Given the description of an element on the screen output the (x, y) to click on. 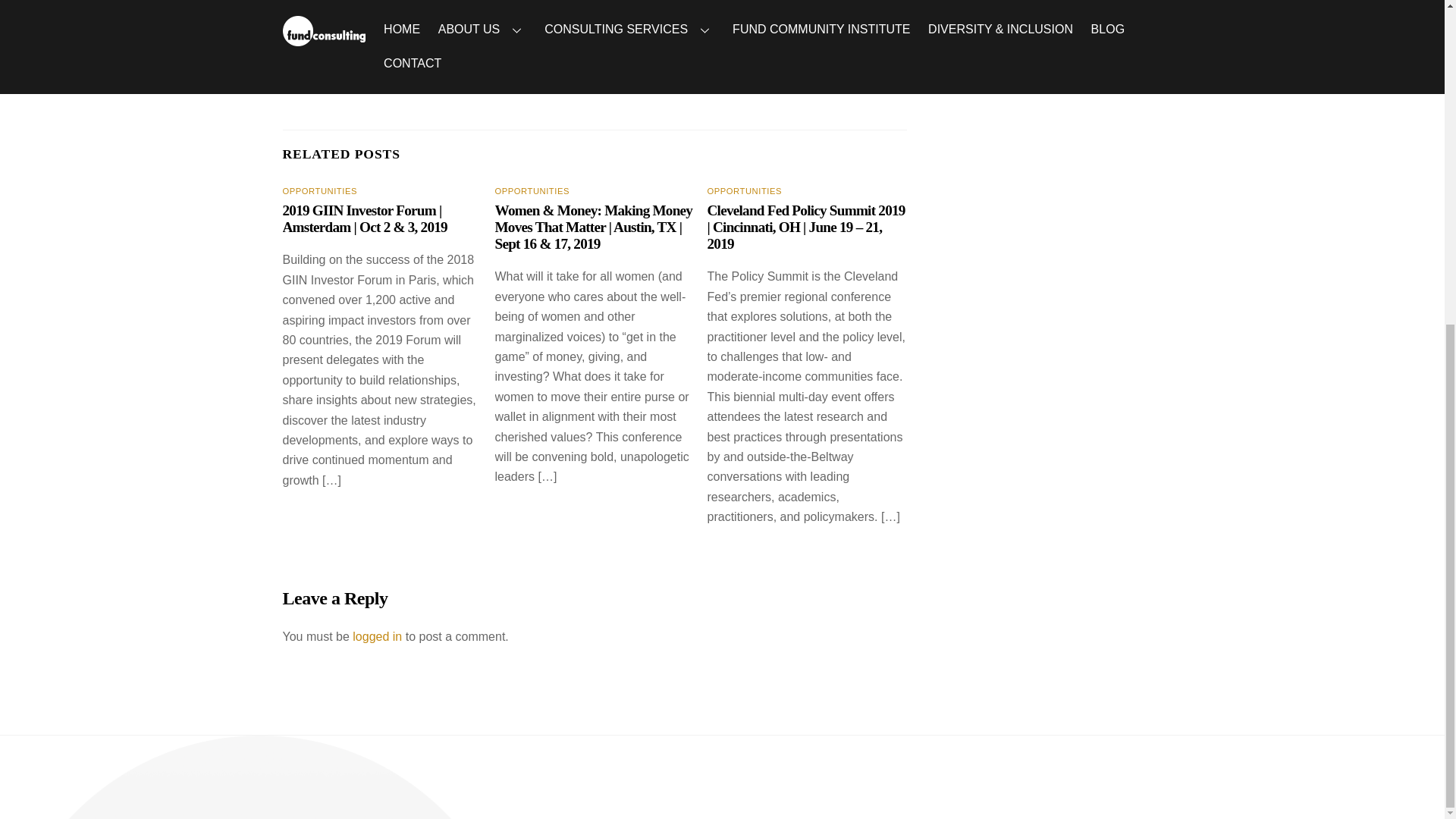
OPPORTUNITIES (532, 190)
OPPORTUNITIES (744, 190)
OPPORTUNITIES (319, 190)
logged in (376, 635)
